Given the description of an element on the screen output the (x, y) to click on. 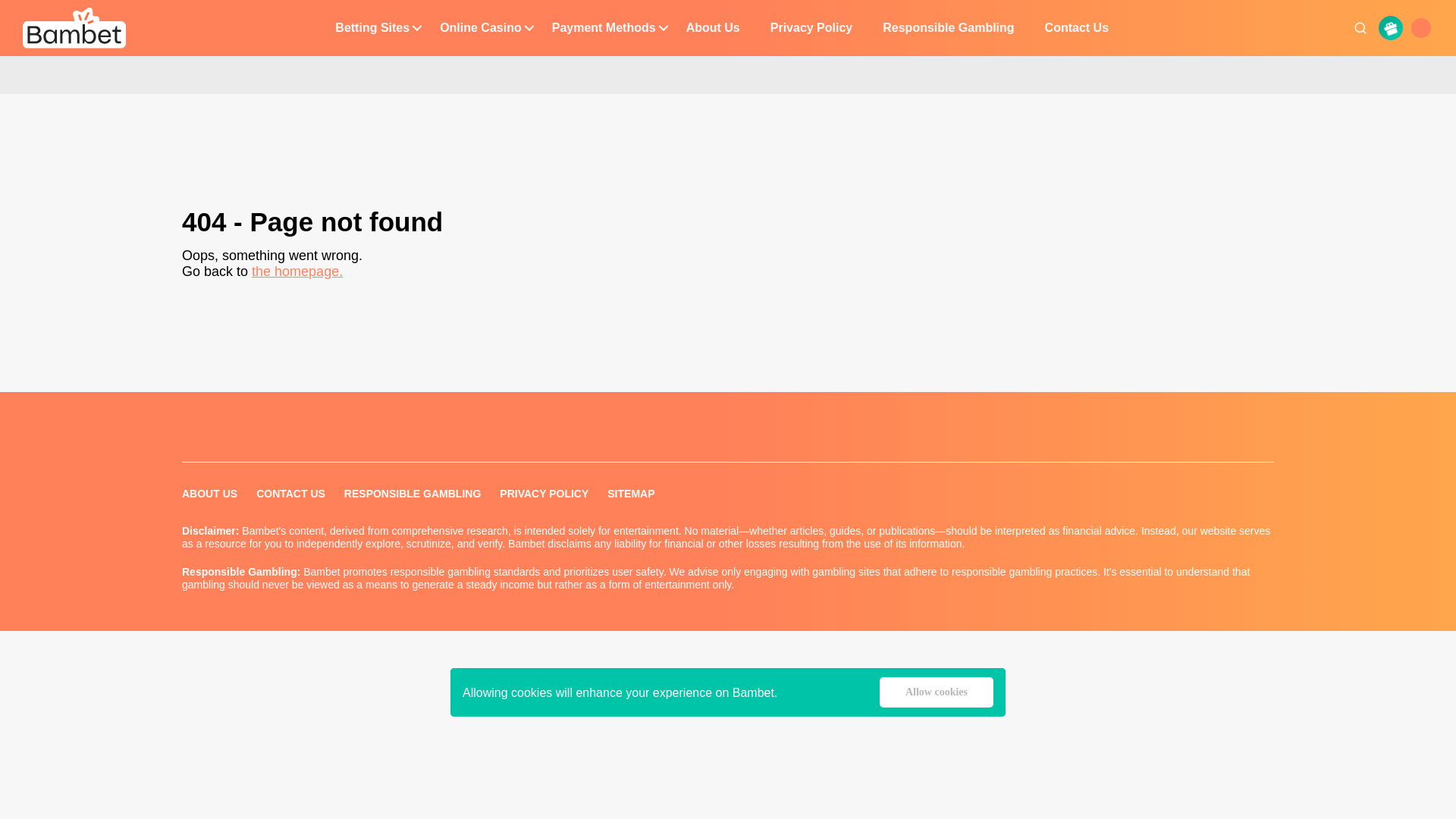
Payment Methods (603, 28)
Online Casino (480, 28)
Bambet- online betting sites review (74, 27)
Search... (1360, 28)
About Us (712, 28)
Privacy Policy (811, 28)
Payment Methods (603, 28)
Betting Sites (371, 28)
Online Casino (480, 28)
Responsible Gambling (947, 28)
Responsible Gambling (947, 28)
About Us (712, 28)
Contact Us (1076, 28)
Privacy Policy (811, 28)
Contact Us (1076, 28)
